Given the description of an element on the screen output the (x, y) to click on. 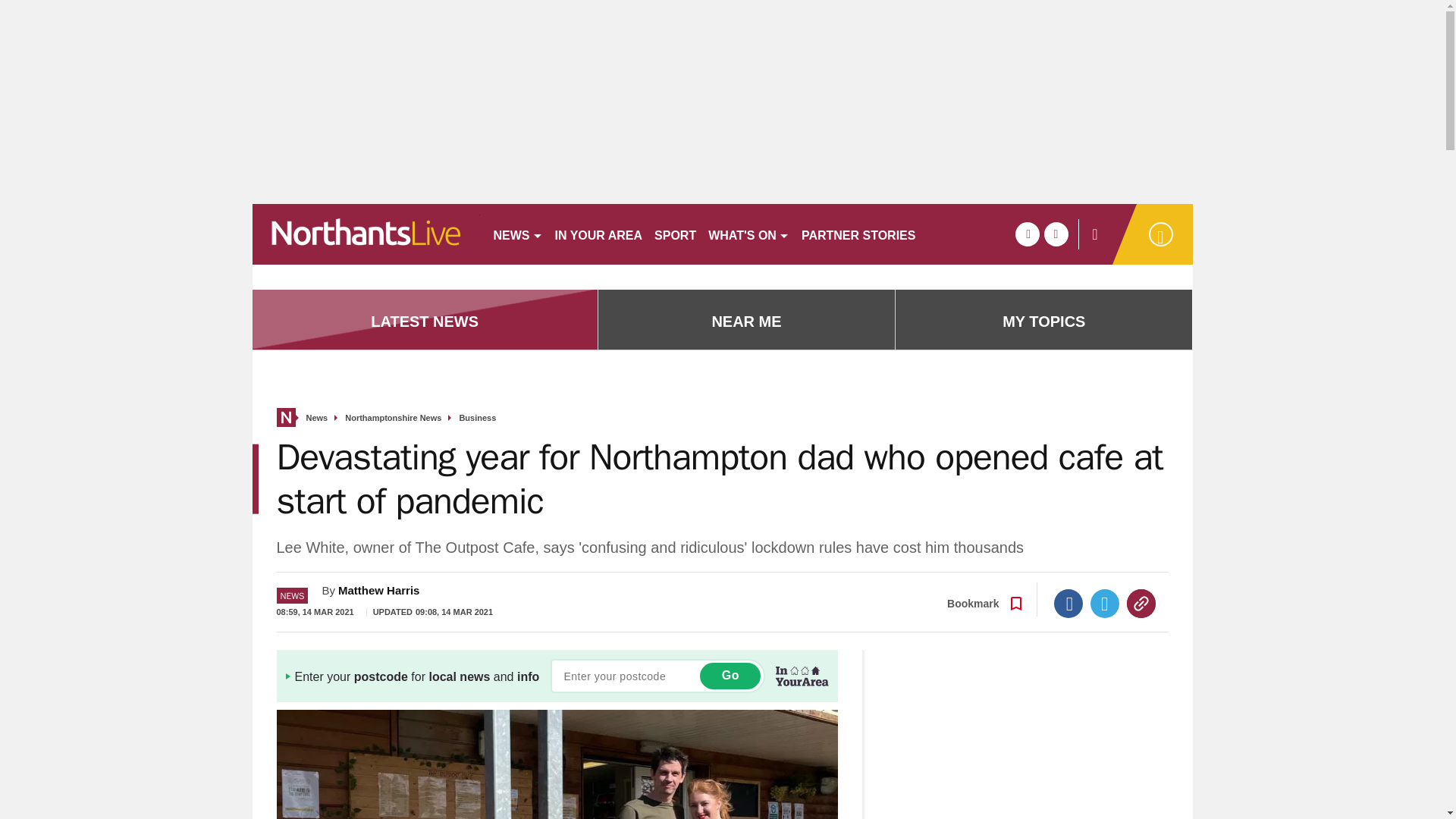
NEWS (517, 233)
Twitter (1104, 603)
Go (730, 675)
NEAR ME (746, 320)
MY TOPICS (1043, 320)
News (317, 418)
Home (285, 416)
WHAT'S ON (747, 233)
northantslive (365, 233)
IN YOUR AREA (598, 233)
Northamptonshire News (393, 418)
PARTNER STORIES (857, 233)
Facebook (1068, 603)
Business (477, 418)
facebook (1026, 233)
